Given the description of an element on the screen output the (x, y) to click on. 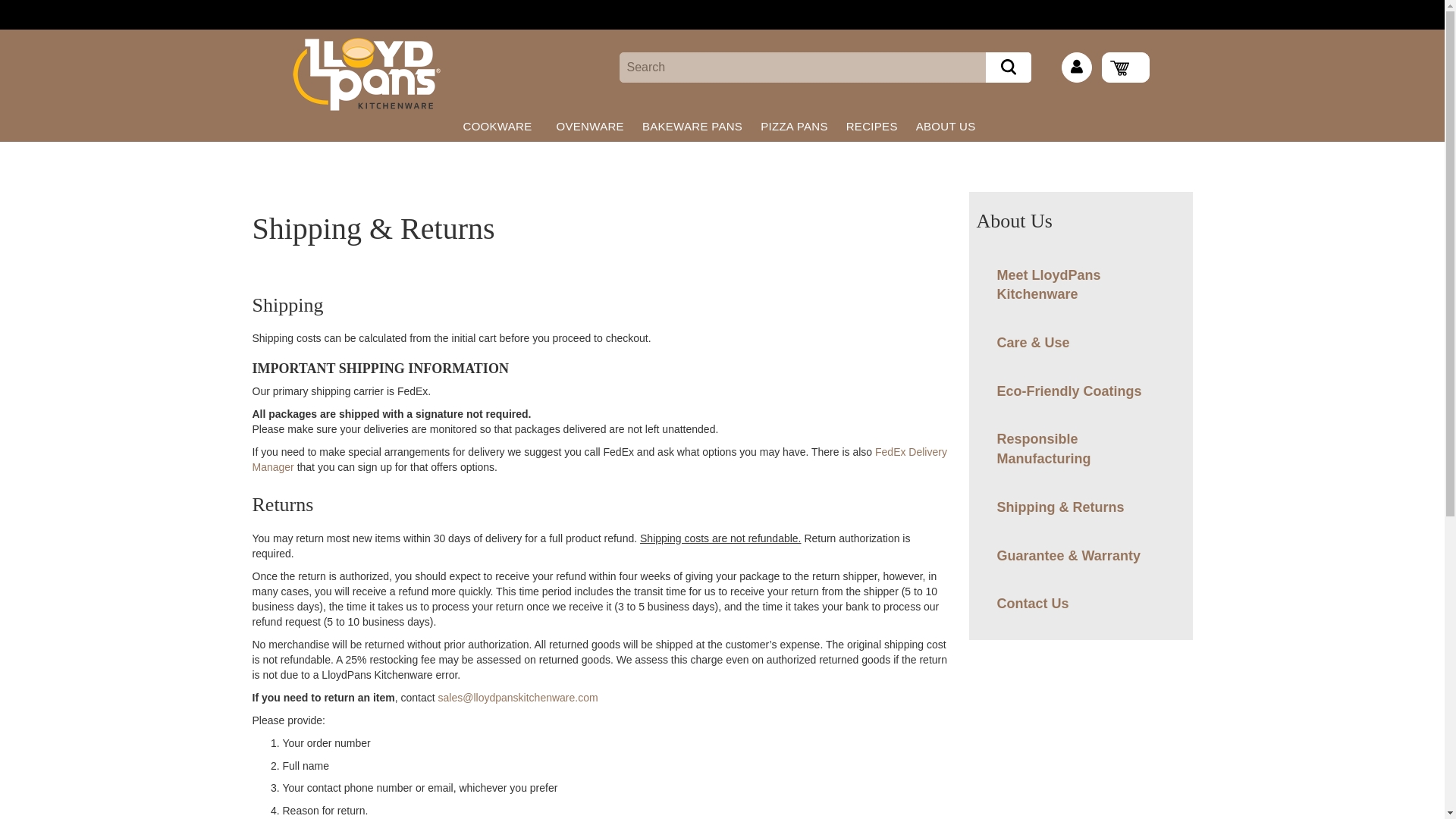
BAKEWARE PANS (692, 126)
FedEx Delivery Manager (598, 459)
Meet LloydPans Kitchenware (1077, 285)
My Cart (1125, 67)
About Us (319, 5)
PIZZA PANS (794, 126)
Returns (518, 697)
Home (264, 5)
About Us (319, 5)
LloydPans Kitchenware (346, 74)
COOKWARE (499, 126)
LloydPans Kitchenware (365, 74)
Search (1007, 67)
RECIPES (872, 126)
ABOUT US (949, 126)
